Given the description of an element on the screen output the (x, y) to click on. 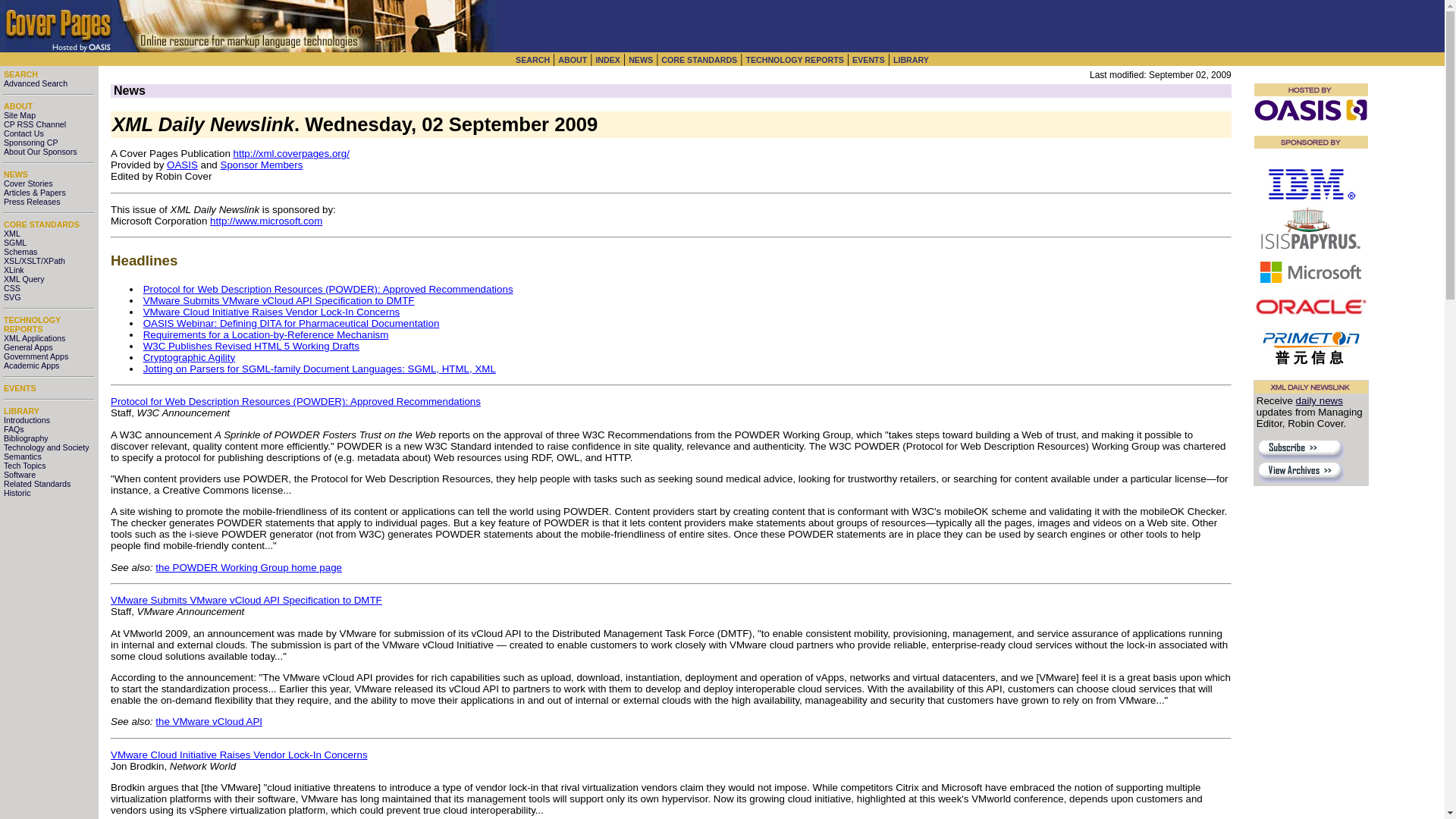
Newsletter Archives (1301, 472)
General Apps (28, 347)
LIBRARY (21, 410)
ABOUT (571, 59)
TECHNOLOGY REPORTS (32, 324)
Cover Stories (28, 183)
Advanced Search (35, 82)
Oracle Corporation (1311, 305)
IBM Corporation (1310, 184)
SVG (12, 297)
NEWS (640, 59)
Schemas (20, 251)
ABOUT (18, 105)
Sponsored By (1310, 141)
About Our Sponsors (40, 151)
